Given the description of an element on the screen output the (x, y) to click on. 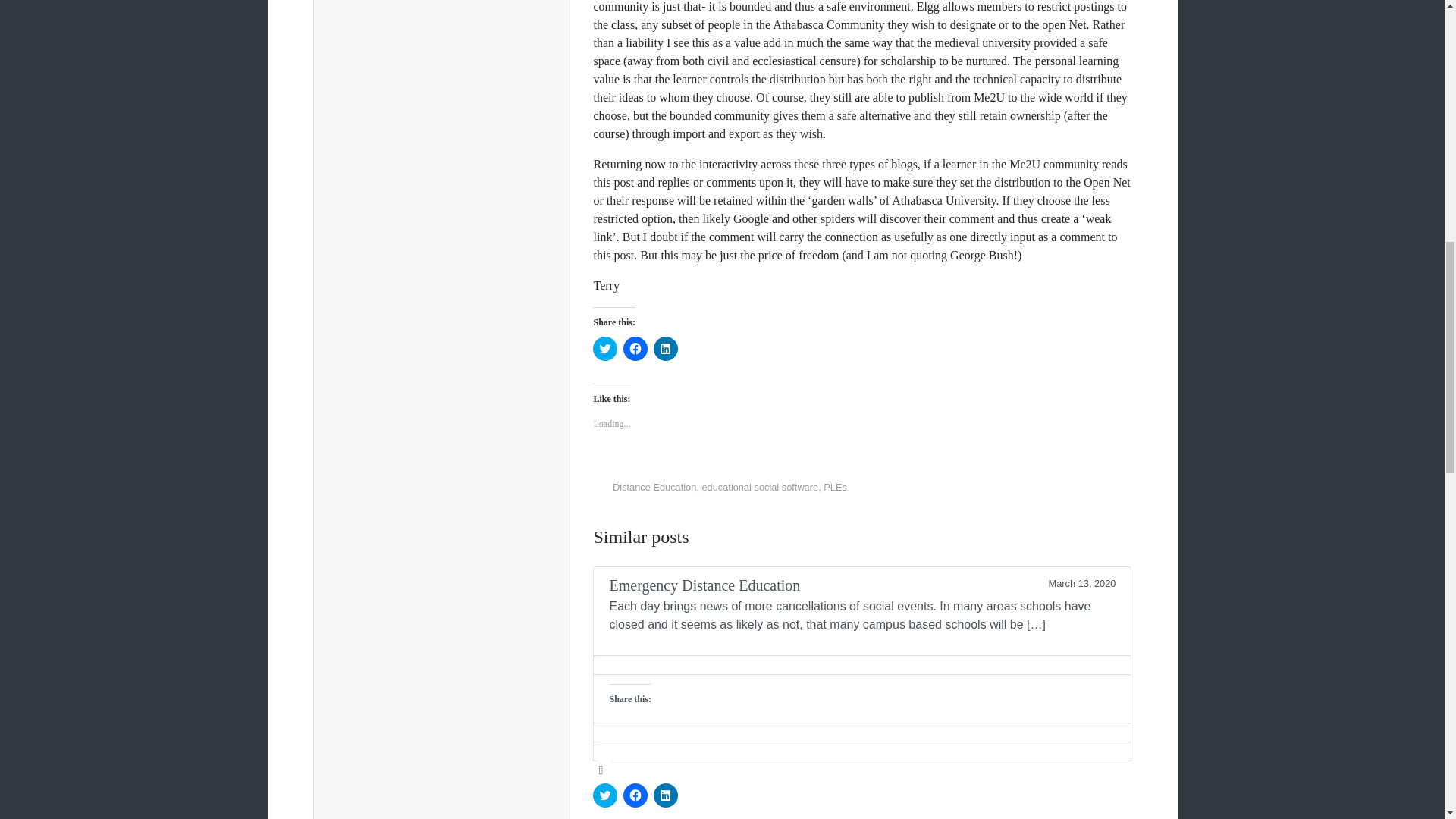
Distance Education (653, 487)
Click to share on Facebook (635, 348)
educational social software (759, 487)
Share on Twitter (1035, 490)
Permanent Link to Emergency Distance Education (861, 611)
Click to share on Twitter (604, 348)
Click to share on LinkedIn (665, 348)
Share by Email (1103, 490)
Share on Facebook (1058, 490)
Share on Pinterest (1080, 490)
